Given the description of an element on the screen output the (x, y) to click on. 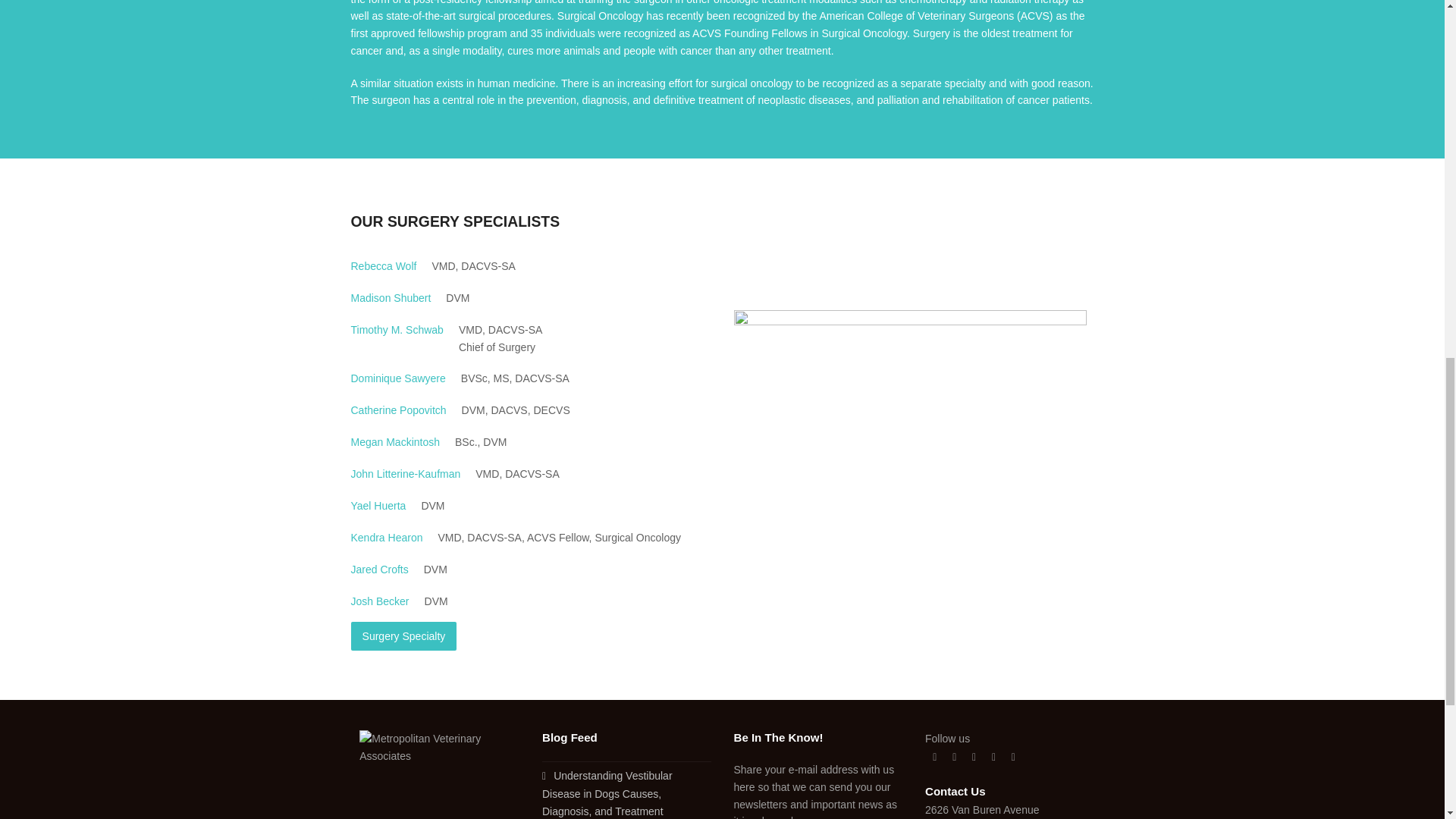
TikTok (1013, 757)
Youtube (994, 757)
Twitter (934, 757)
Instagram (973, 757)
Facebook (953, 757)
